Given the description of an element on the screen output the (x, y) to click on. 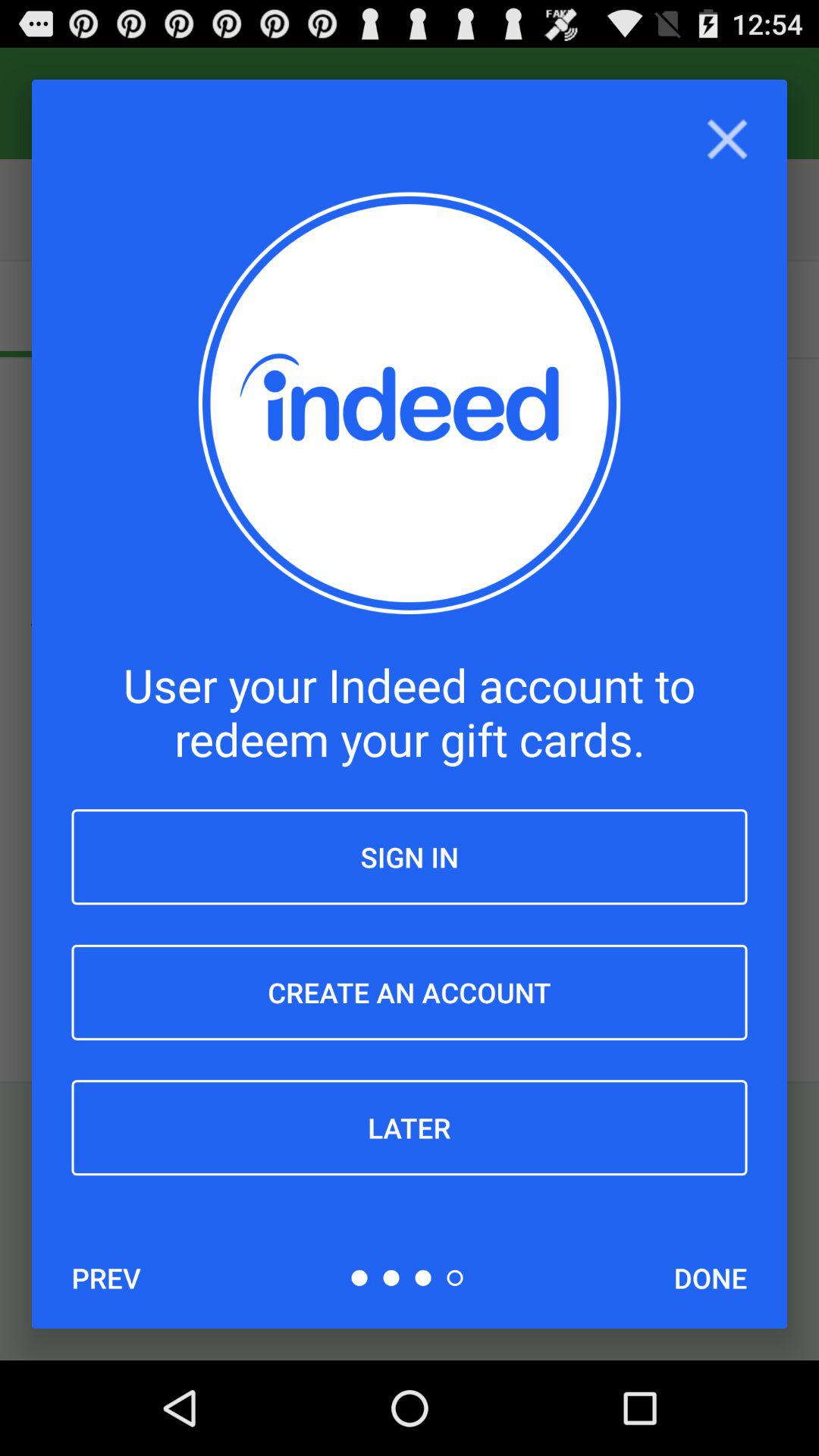
turn on the later icon (409, 1127)
